Given the description of an element on the screen output the (x, y) to click on. 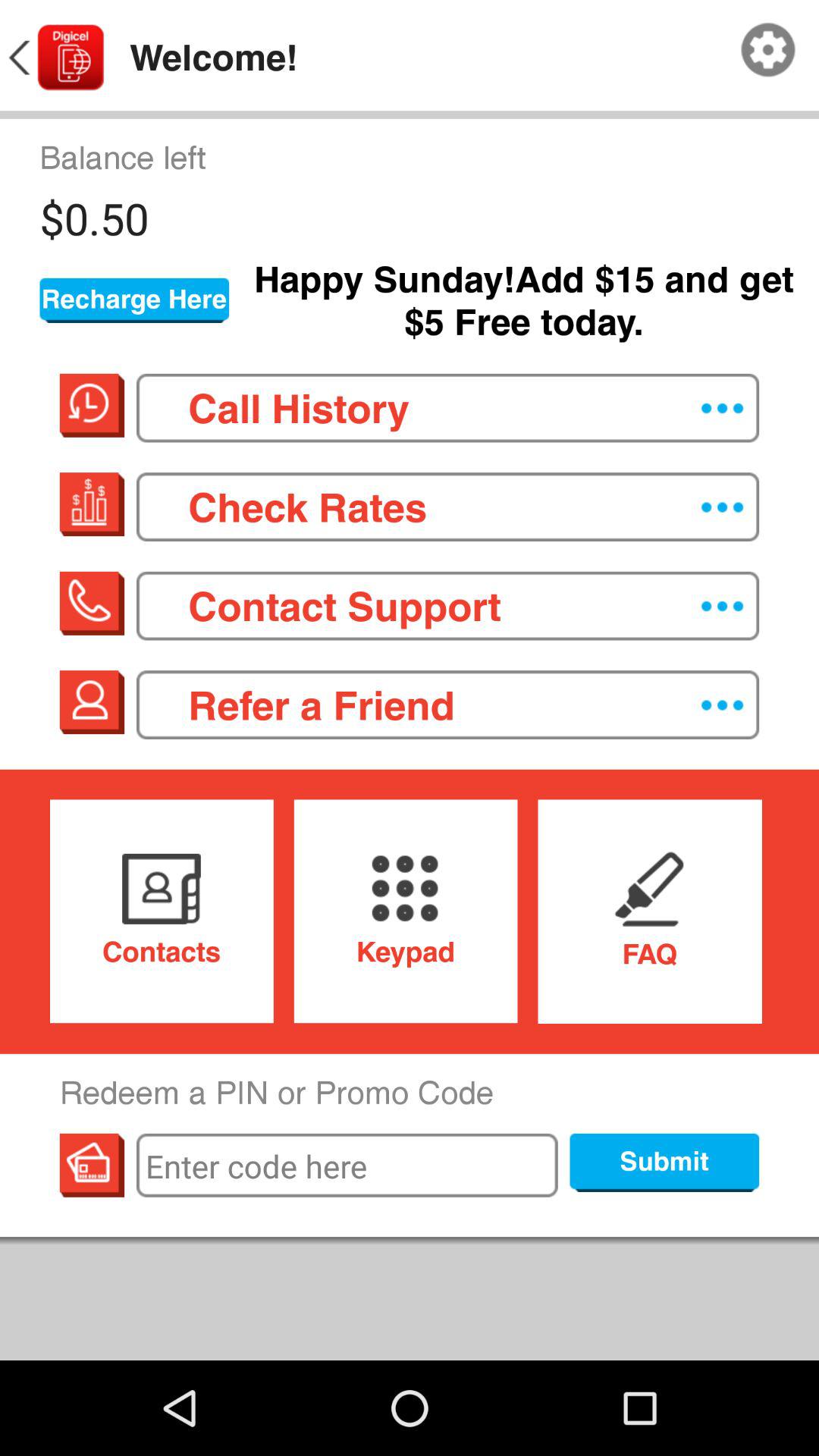
deploy app settings (768, 49)
